Given the description of an element on the screen output the (x, y) to click on. 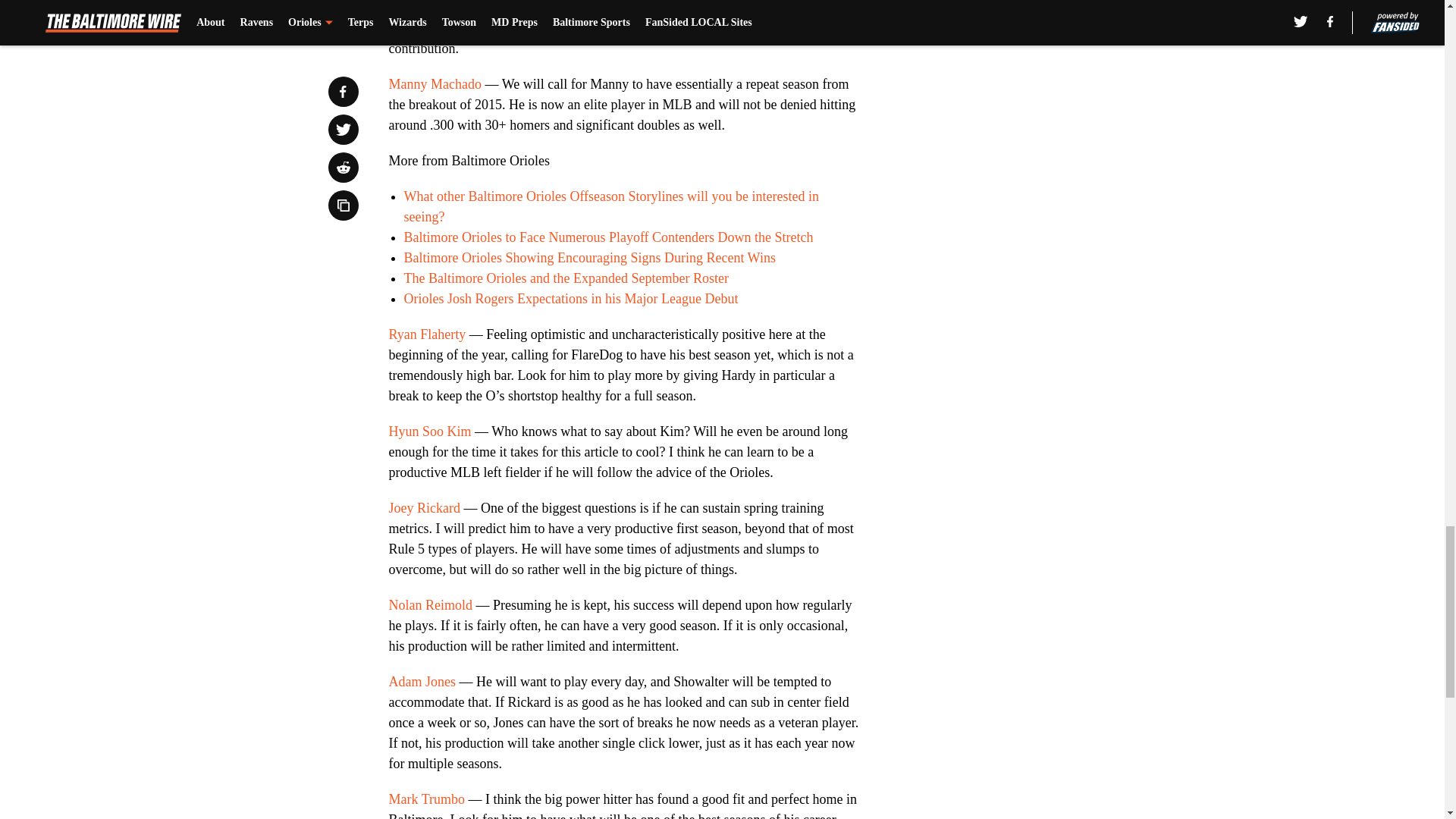
Nolan Reimold (429, 604)
Ryan Flaherty (426, 334)
Hyun Soo Kim (429, 431)
Manny Machado (434, 83)
Joey Rickard (424, 507)
Mark Trumbo (426, 798)
Orioles Josh Rogers Expectations in his Major League Debut (570, 298)
